Given the description of an element on the screen output the (x, y) to click on. 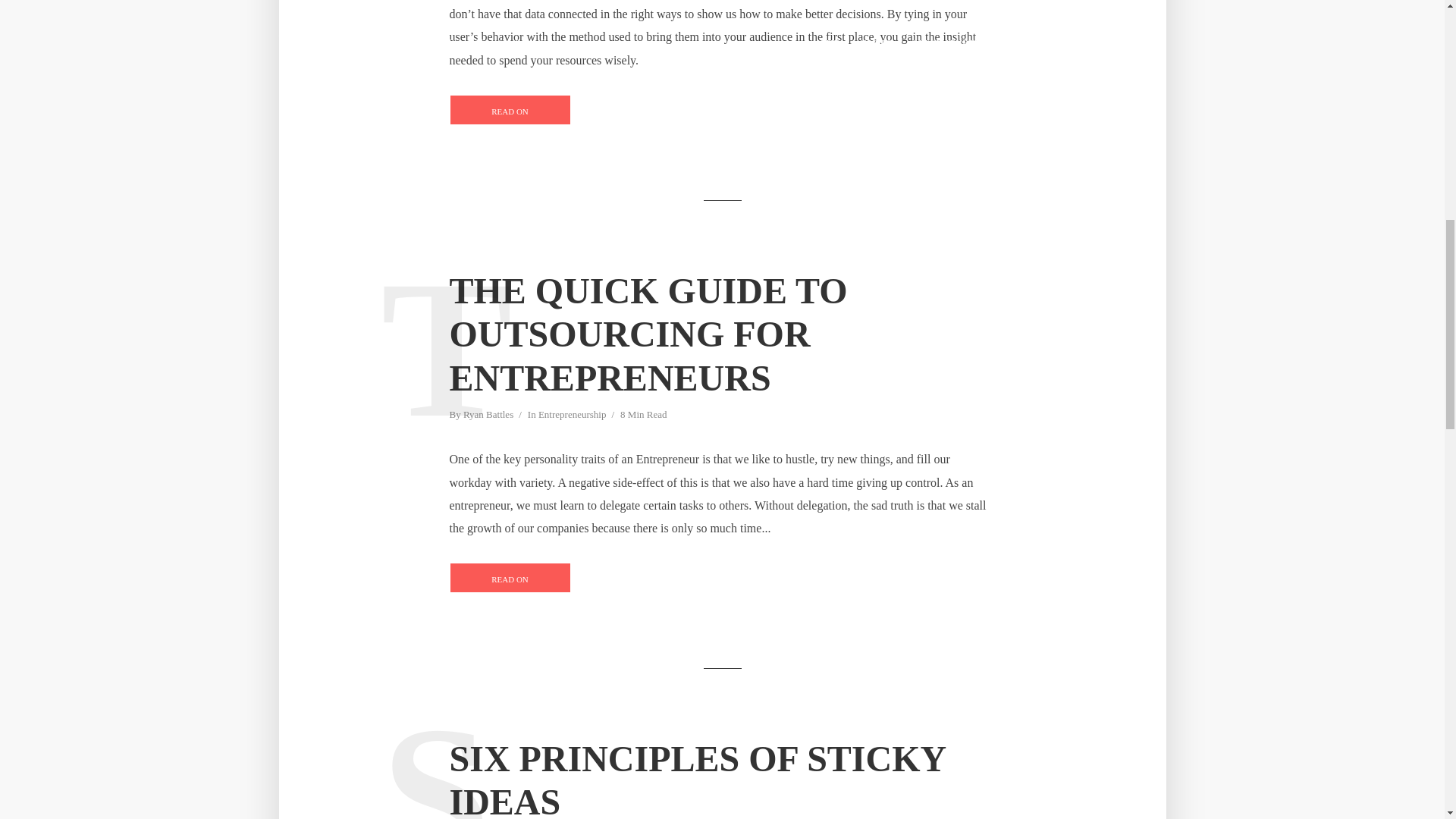
THE QUICK GUIDE TO OUTSOURCING FOR ENTREPRENEURS (721, 334)
SIX PRINCIPLES OF STICKY IDEAS (721, 778)
READ ON (509, 577)
Ryan Battles (488, 415)
READ ON (509, 110)
Entrepreneurship (572, 415)
